Given the description of an element on the screen output the (x, y) to click on. 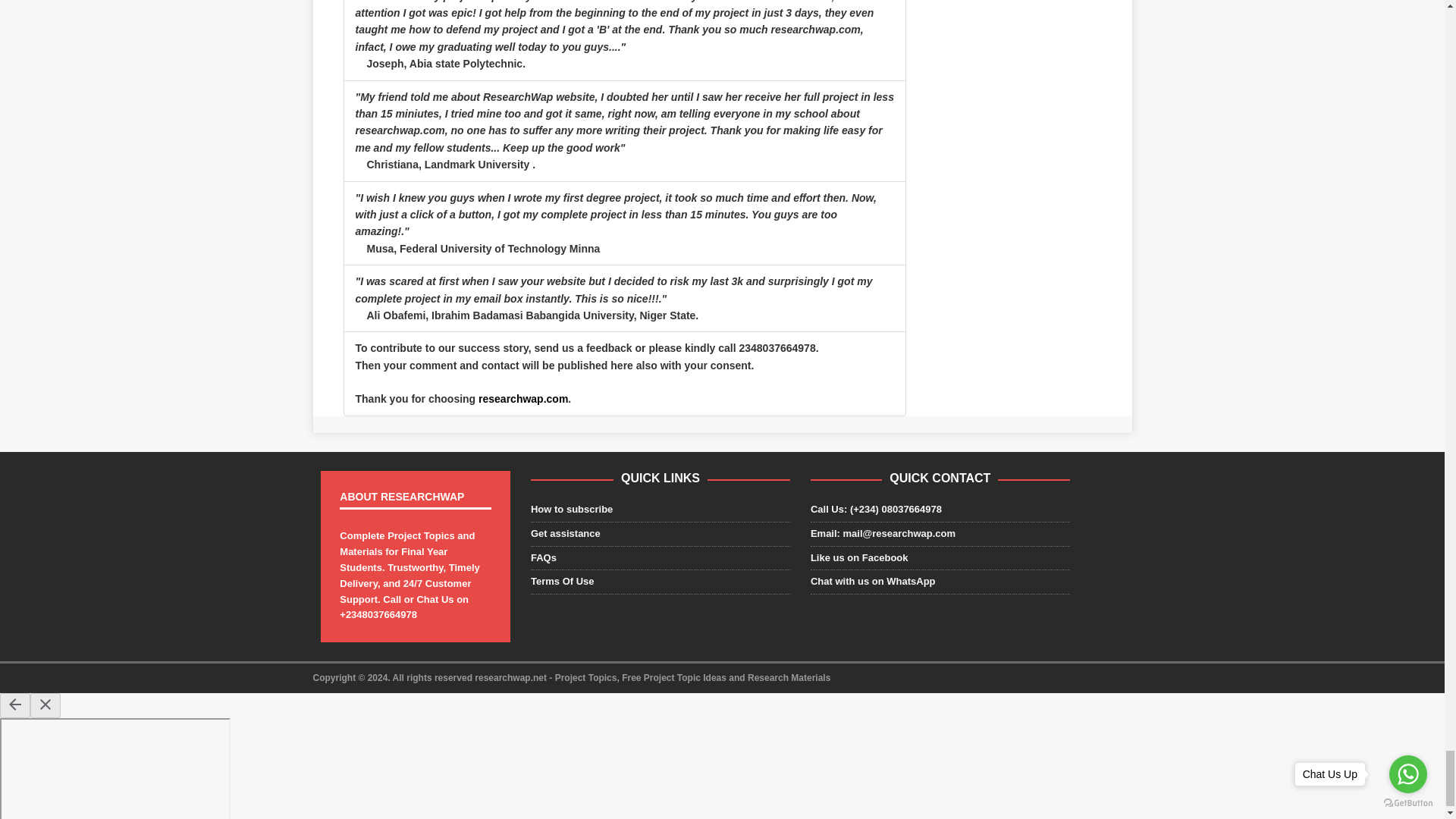
researchwap.com (523, 398)
